Given the description of an element on the screen output the (x, y) to click on. 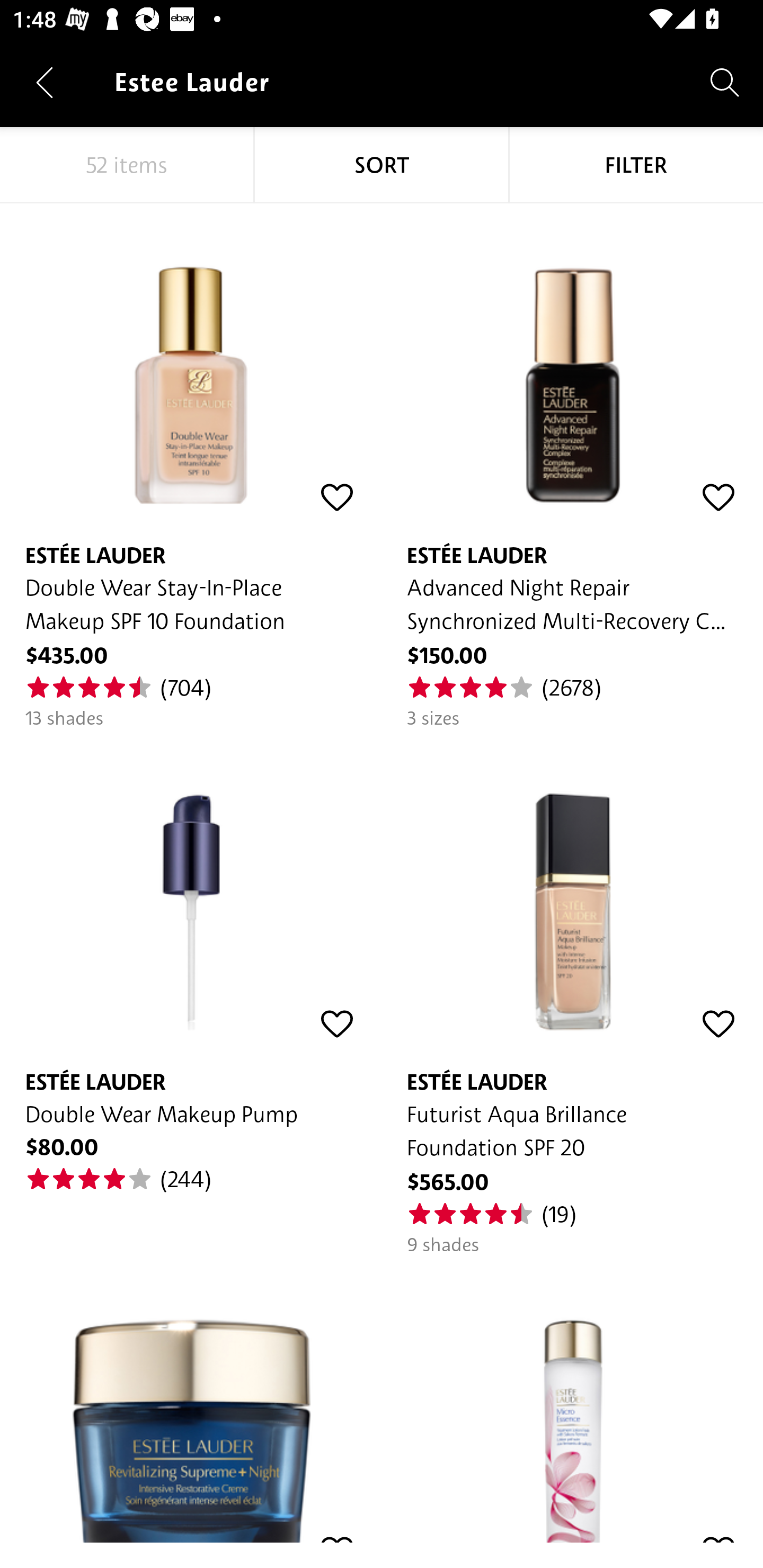
Navigate up (44, 82)
Search (724, 81)
SORT (381, 165)
FILTER (636, 165)
ESTÉE LAUDER Double Wear Makeup Pump $80.00 (244) (190, 961)
